Given the description of an element on the screen output the (x, y) to click on. 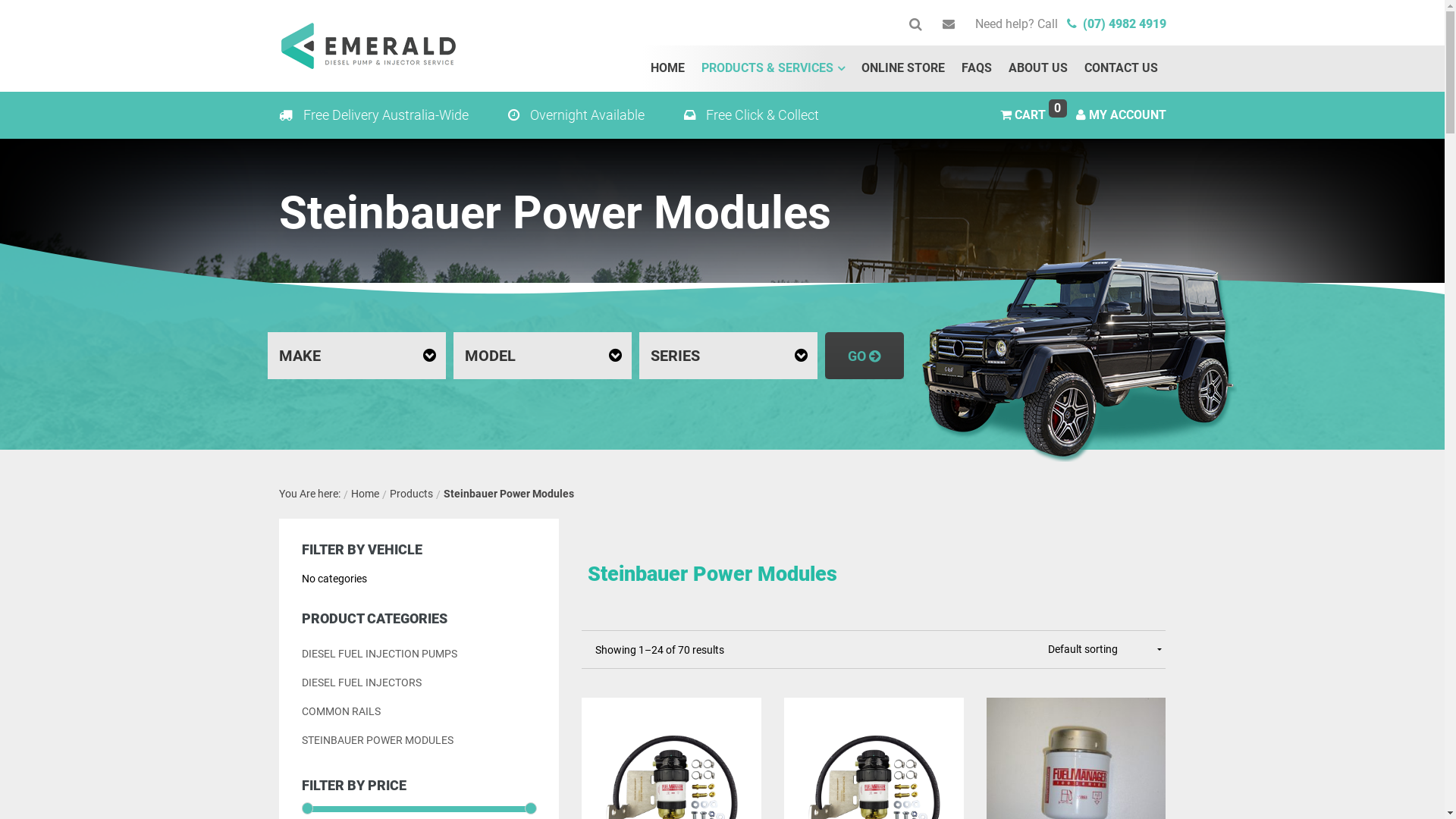
Free Delivery Australia-Wide Element type: text (373, 114)
GO Element type: text (864, 355)
HOME Element type: text (666, 68)
Emerald Diesel Pump & Injector Service Element type: hover (368, 45)
Search Element type: text (904, 24)
ABOUT US Element type: text (1037, 68)
STEINBAUER POWER MODULES Element type: text (377, 739)
Home Element type: text (364, 493)
CONTACT US Element type: text (1120, 68)
MY ACCOUNT Element type: text (1120, 114)
Overnight Available Element type: text (576, 114)
FAQS Element type: text (975, 68)
DIESEL FUEL INJECTION PUMPS Element type: text (379, 653)
Click to send email to office@edpis.com.au Element type: hover (947, 23)
CART
0 Element type: text (1025, 114)
Click to view Search Element type: hover (914, 23)
Products Element type: text (411, 493)
COMMON RAILS Element type: text (340, 710)
Free Click & Collect Element type: text (751, 114)
PRODUCTS & SERVICES Element type: text (773, 68)
Need help? Call (07) 4982 4919 Element type: text (1070, 23)
ONLINE STORE Element type: text (902, 68)
DIESEL FUEL INJECTORS Element type: text (361, 682)
